Given the description of an element on the screen output the (x, y) to click on. 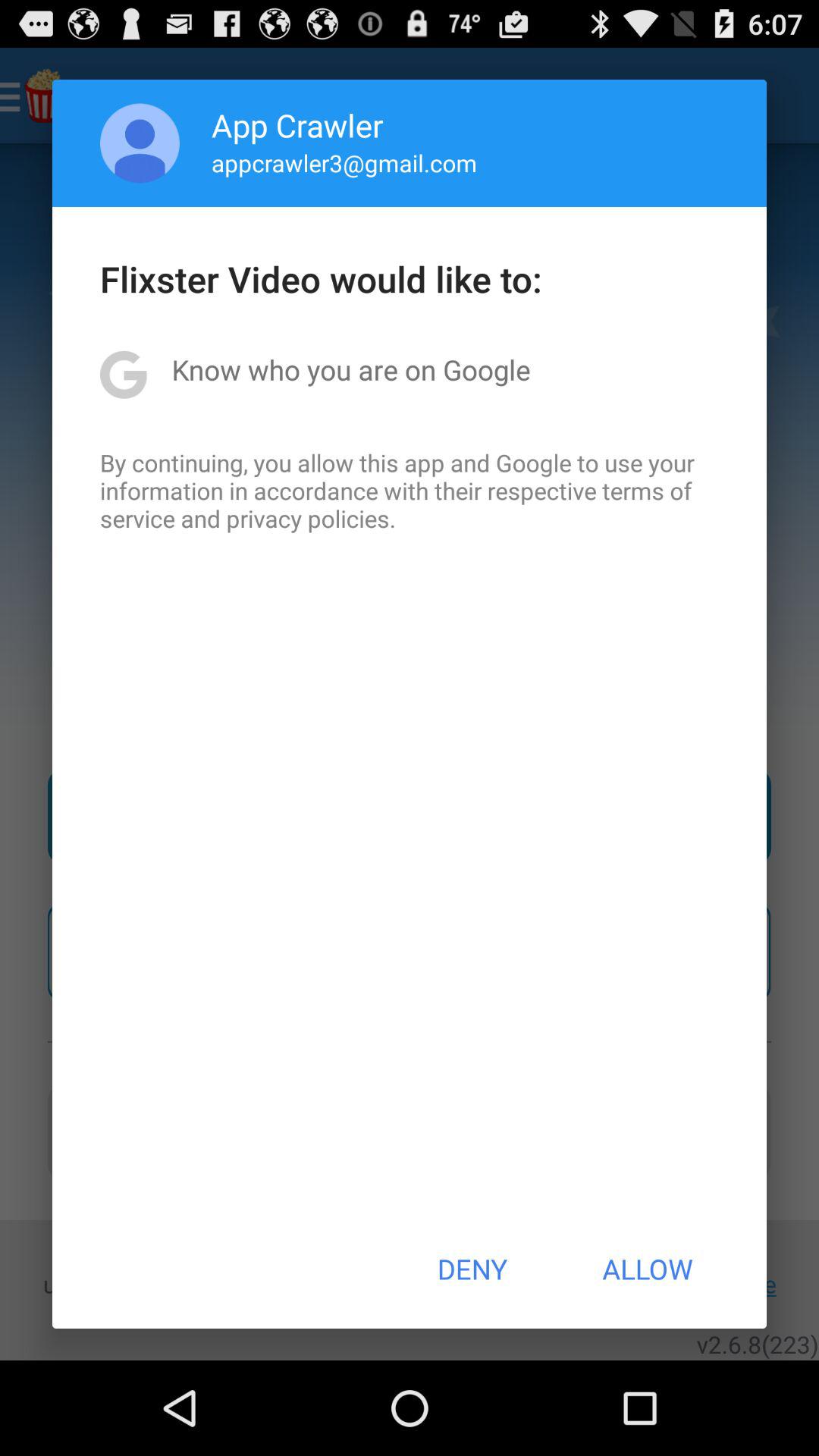
swipe to the appcrawler3@gmail.com item (344, 162)
